Given the description of an element on the screen output the (x, y) to click on. 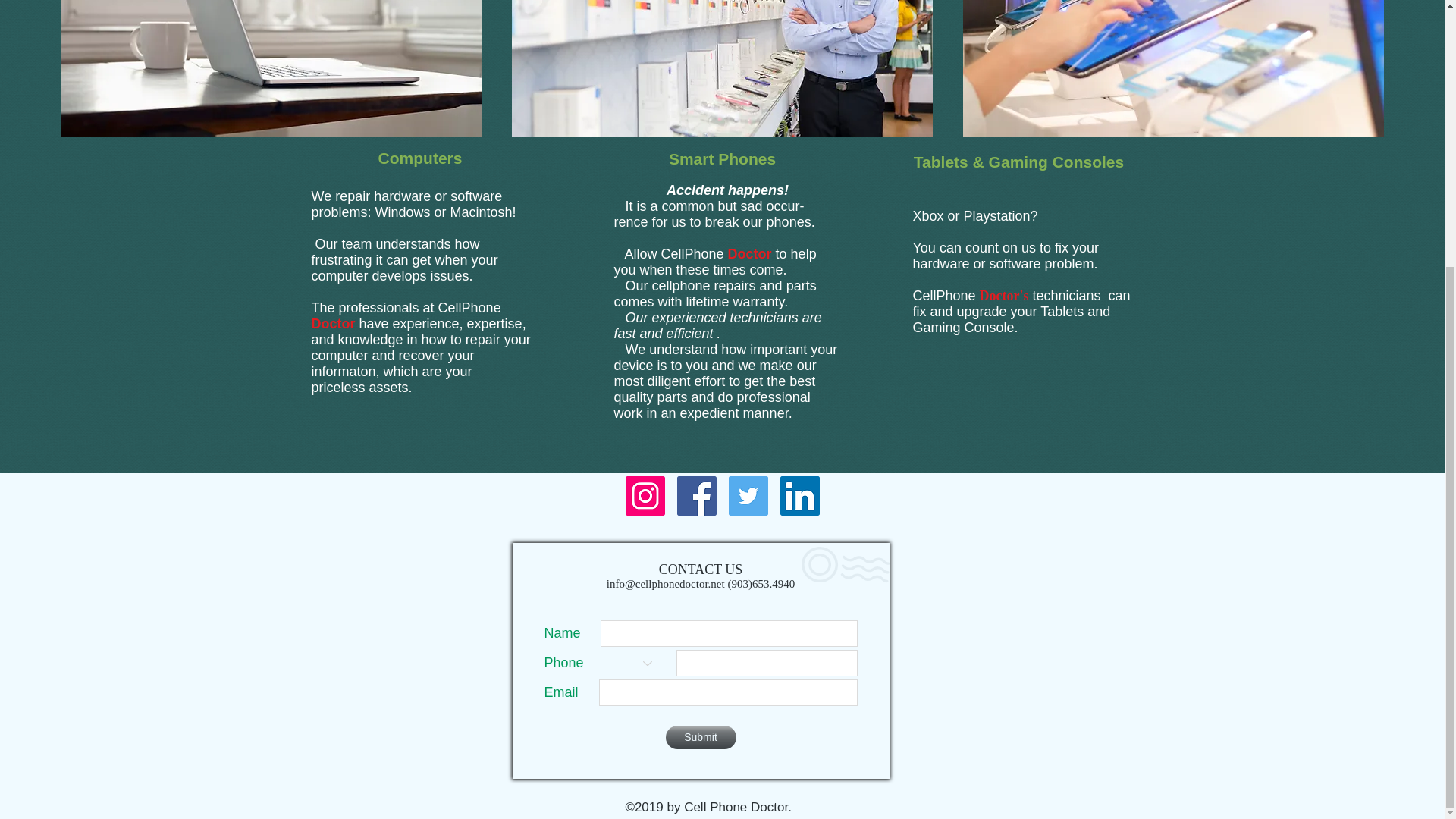
Submit (700, 737)
